Given the description of an element on the screen output the (x, y) to click on. 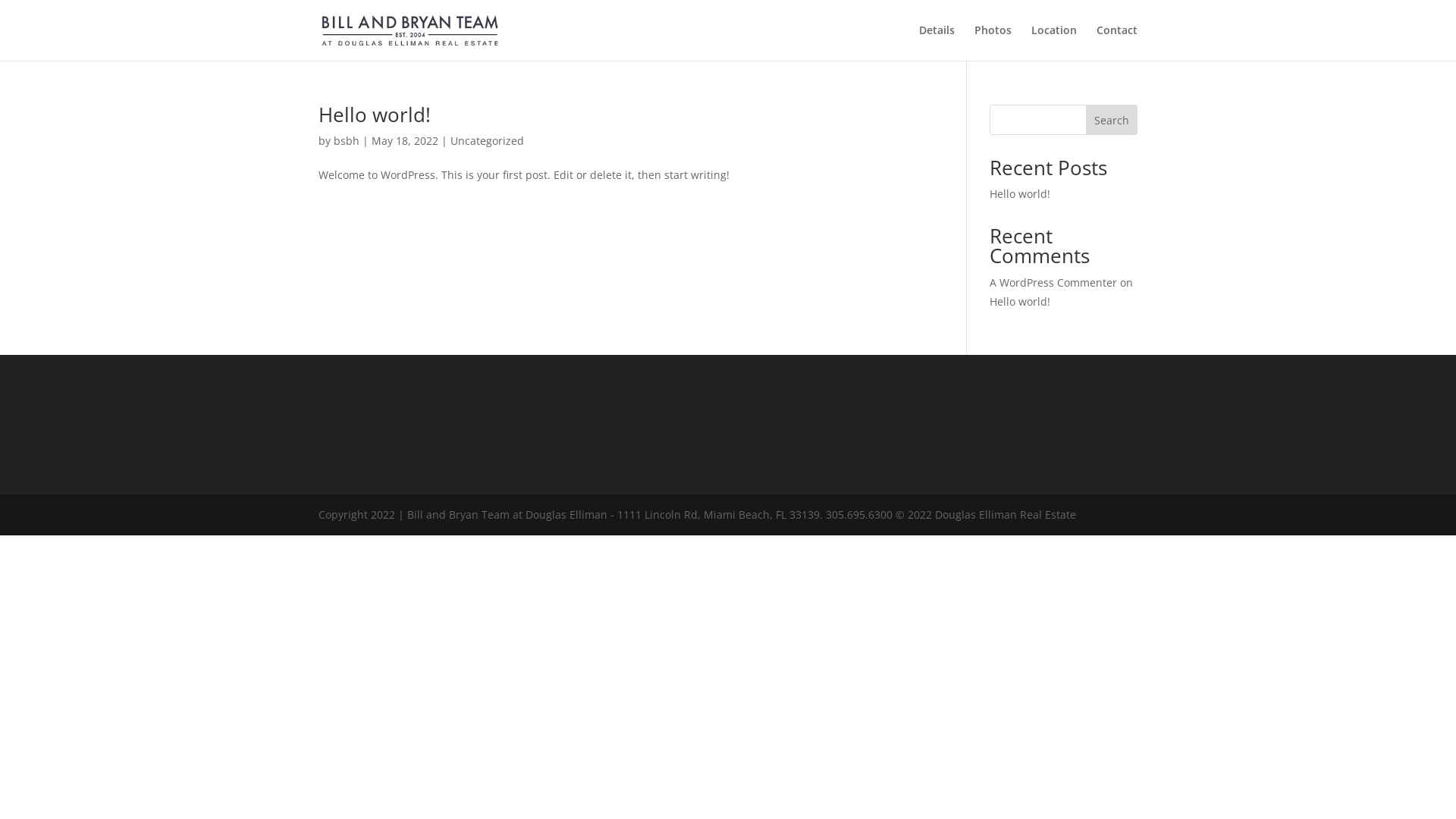
Hello world! Element type: text (374, 114)
Location Element type: text (1053, 42)
Photos Element type: text (992, 42)
Hello world! Element type: text (1019, 301)
Hello world! Element type: text (1019, 193)
Search Element type: text (1111, 119)
bsbh Element type: text (346, 140)
Uncategorized Element type: text (487, 140)
A WordPress Commenter Element type: text (1053, 282)
Details Element type: text (936, 42)
Contact Element type: text (1116, 42)
